Given the description of an element on the screen output the (x, y) to click on. 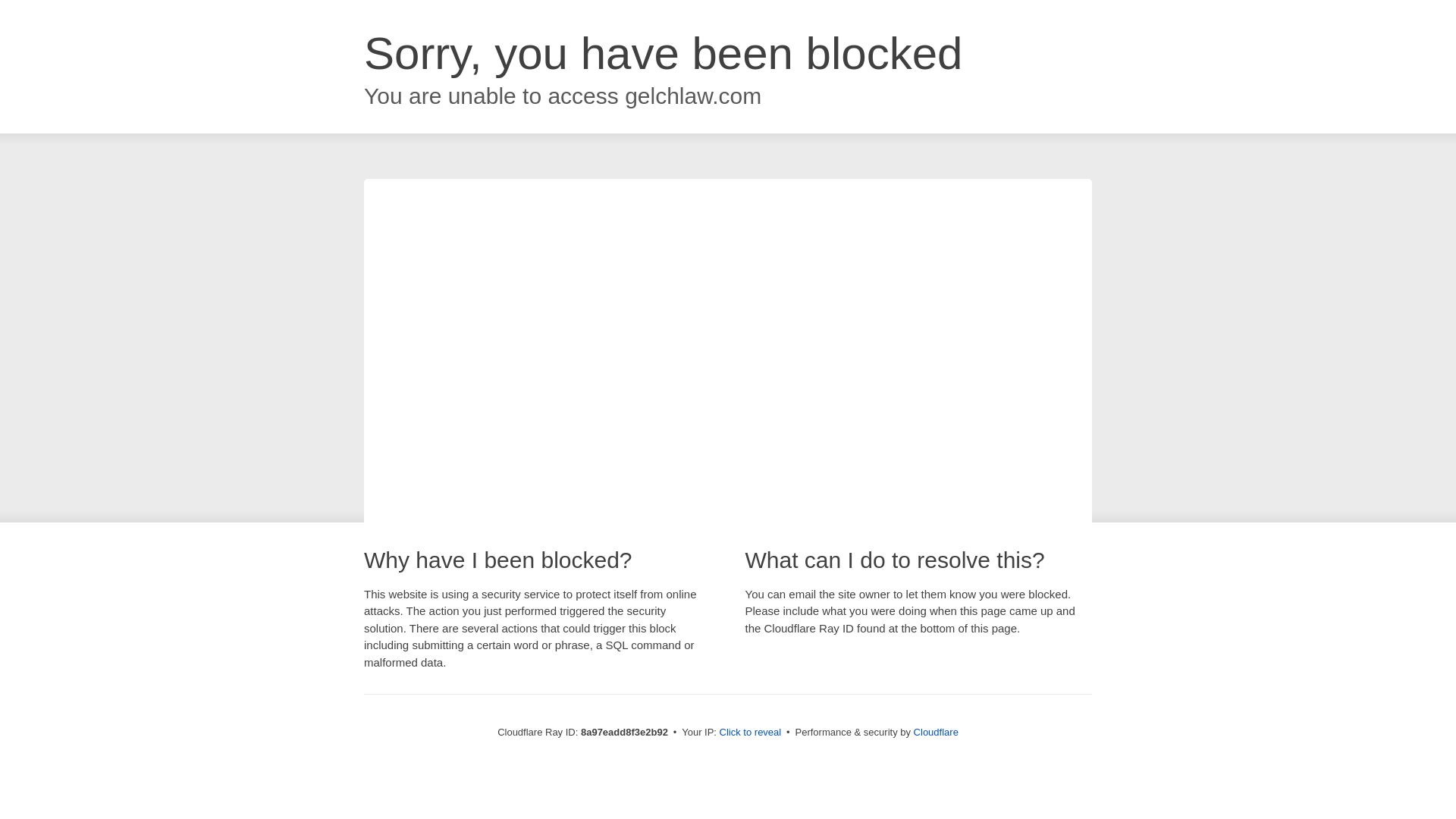
Cloudflare (936, 731)
Click to reveal (750, 732)
